Given the description of an element on the screen output the (x, y) to click on. 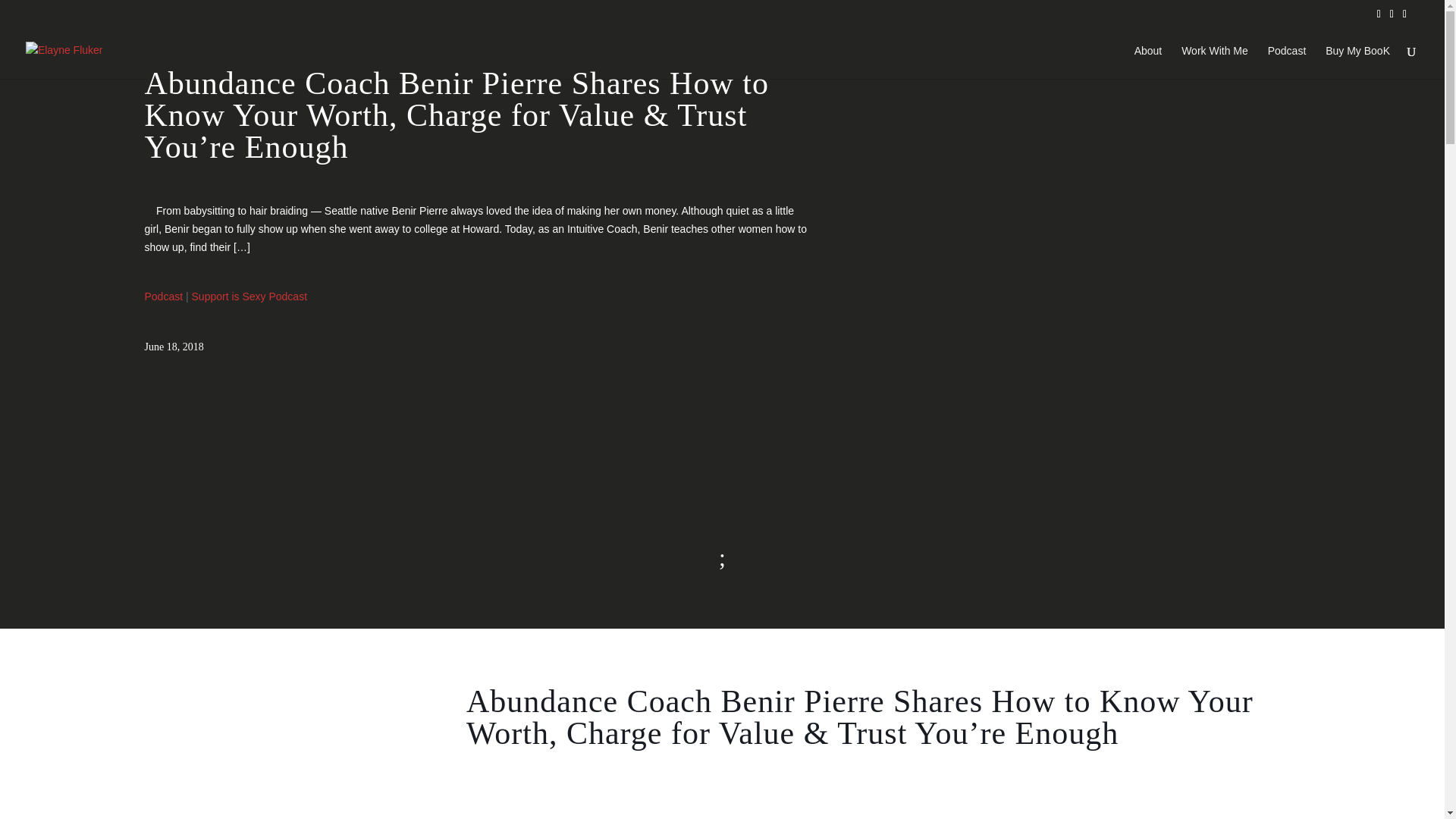
About (1147, 61)
Buy My BooK (1357, 61)
; (722, 562)
Support is Sexy Podcast (249, 296)
Podcast (1287, 61)
Podcast (163, 296)
Work With Me (1213, 61)
